Given the description of an element on the screen output the (x, y) to click on. 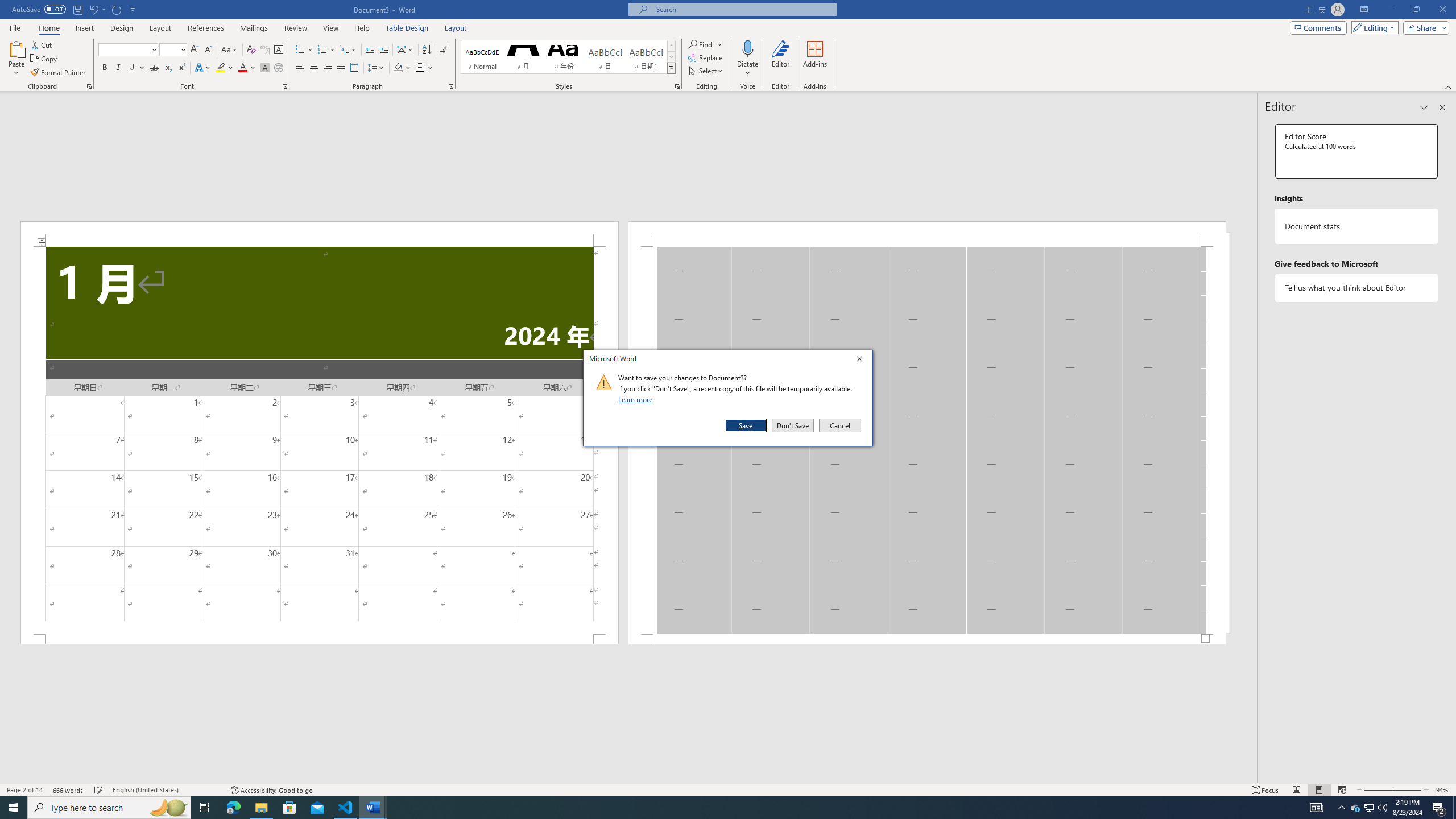
AutoSave (38, 9)
